Given the description of an element on the screen output the (x, y) to click on. 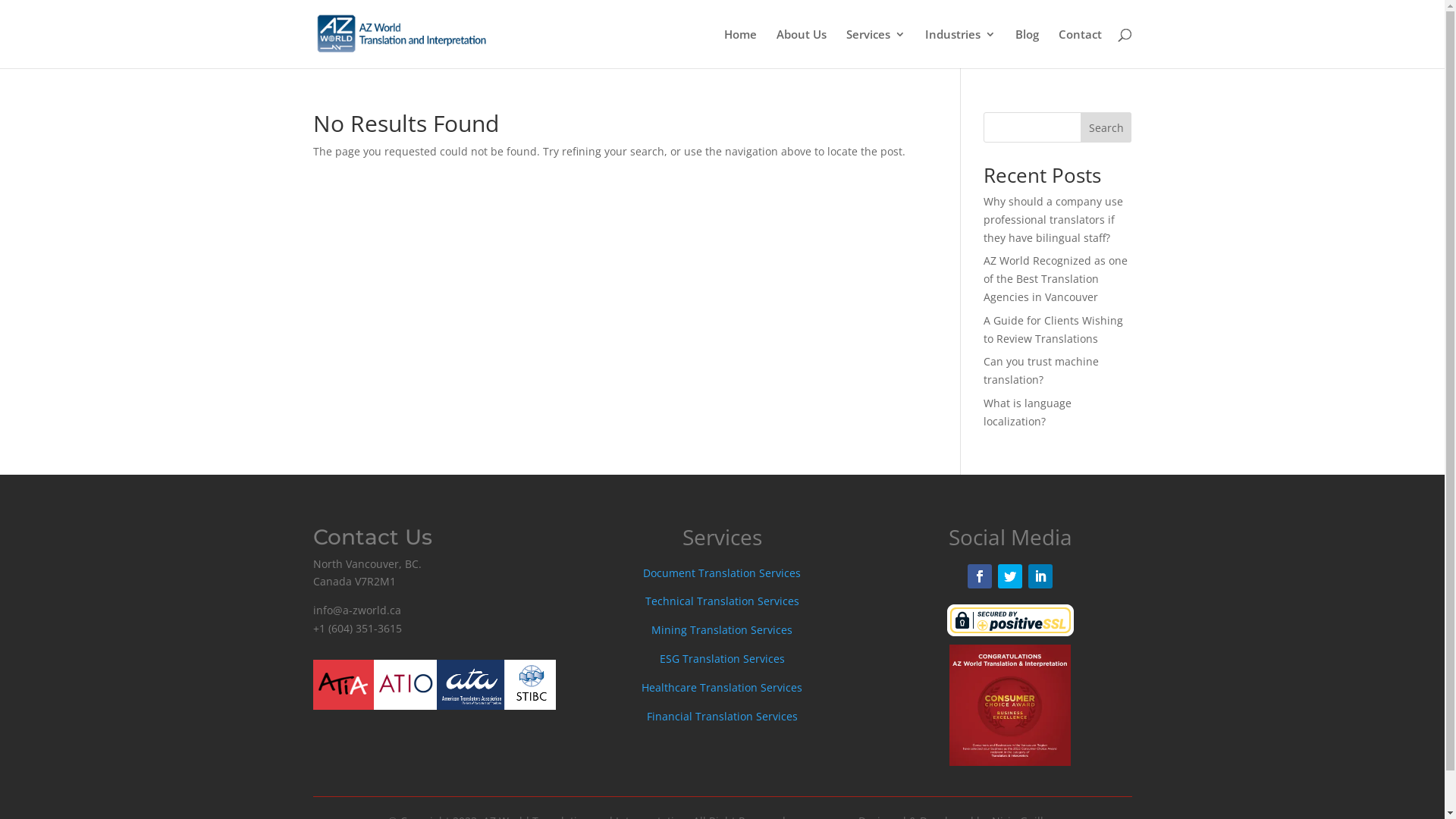
Follow on Facebook Element type: hover (979, 576)
Contact Element type: text (1079, 48)
Document Translation Services Element type: text (721, 572)
Can you trust machine translation? Element type: text (1040, 370)
Home Element type: text (739, 48)
Technical Translation Services Element type: text (722, 600)
AZ-AWARD Element type: hover (1009, 704)
translation services security Element type: hover (1010, 620)
What is language localization? Element type: text (1027, 411)
Financial Translation Services Element type: text (721, 716)
translator services agency canada Element type: hover (433, 684)
Healthcare Translation Services Element type: text (721, 687)
Follow on LinkedIn Element type: hover (1040, 576)
Mining Translation Services Element type: text (721, 629)
Services Element type: text (875, 48)
Blog Element type: text (1026, 48)
About Us Element type: text (801, 48)
Follow on Twitter Element type: hover (1009, 576)
Search Element type: text (1106, 127)
Industries Element type: text (960, 48)
A Guide for Clients Wishing to Review Translations Element type: text (1053, 329)
ESG Translation Services Element type: text (721, 658)
